Given the description of an element on the screen output the (x, y) to click on. 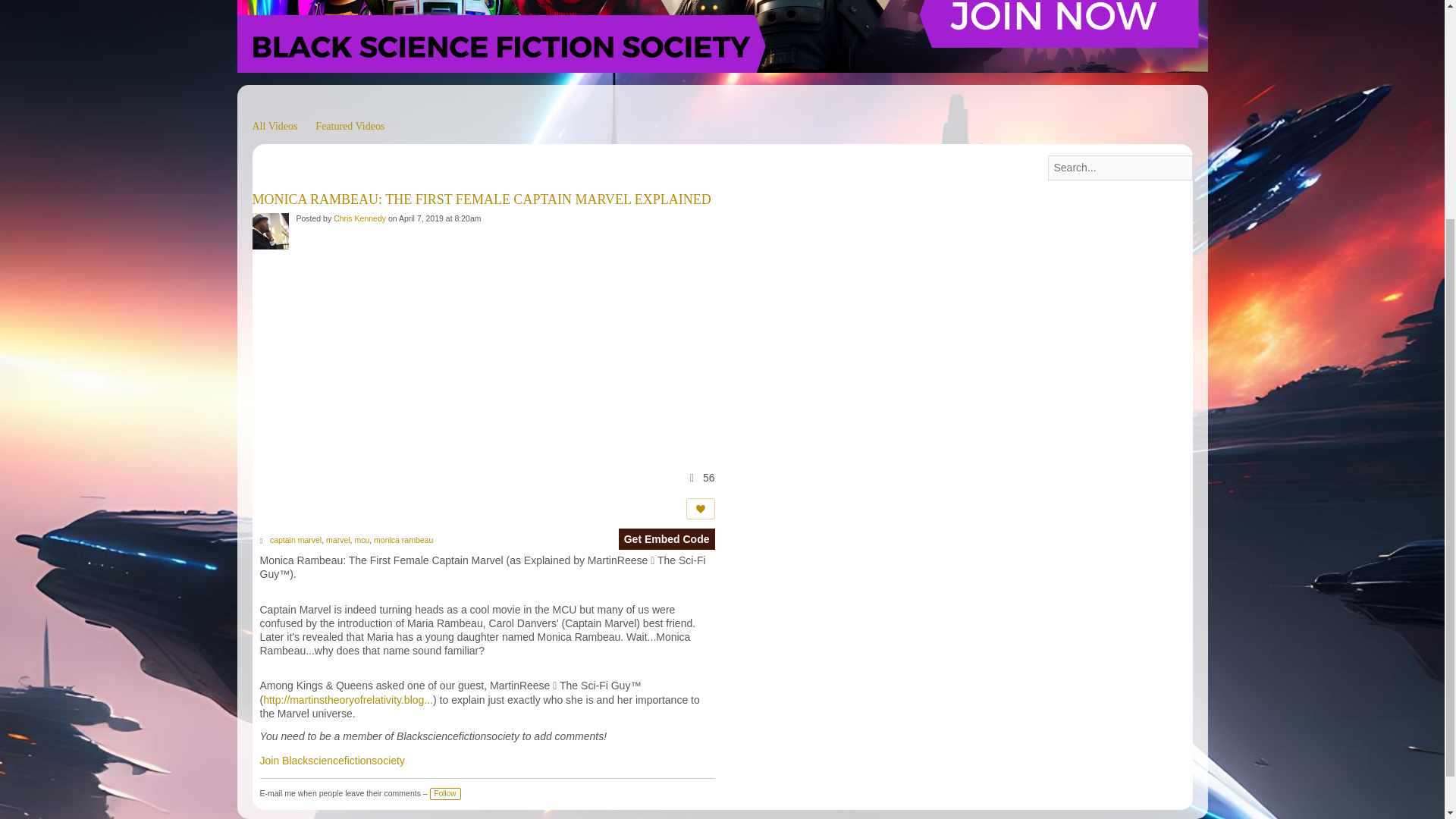
Tags: (263, 541)
Promote (699, 508)
